Given the description of an element on the screen output the (x, y) to click on. 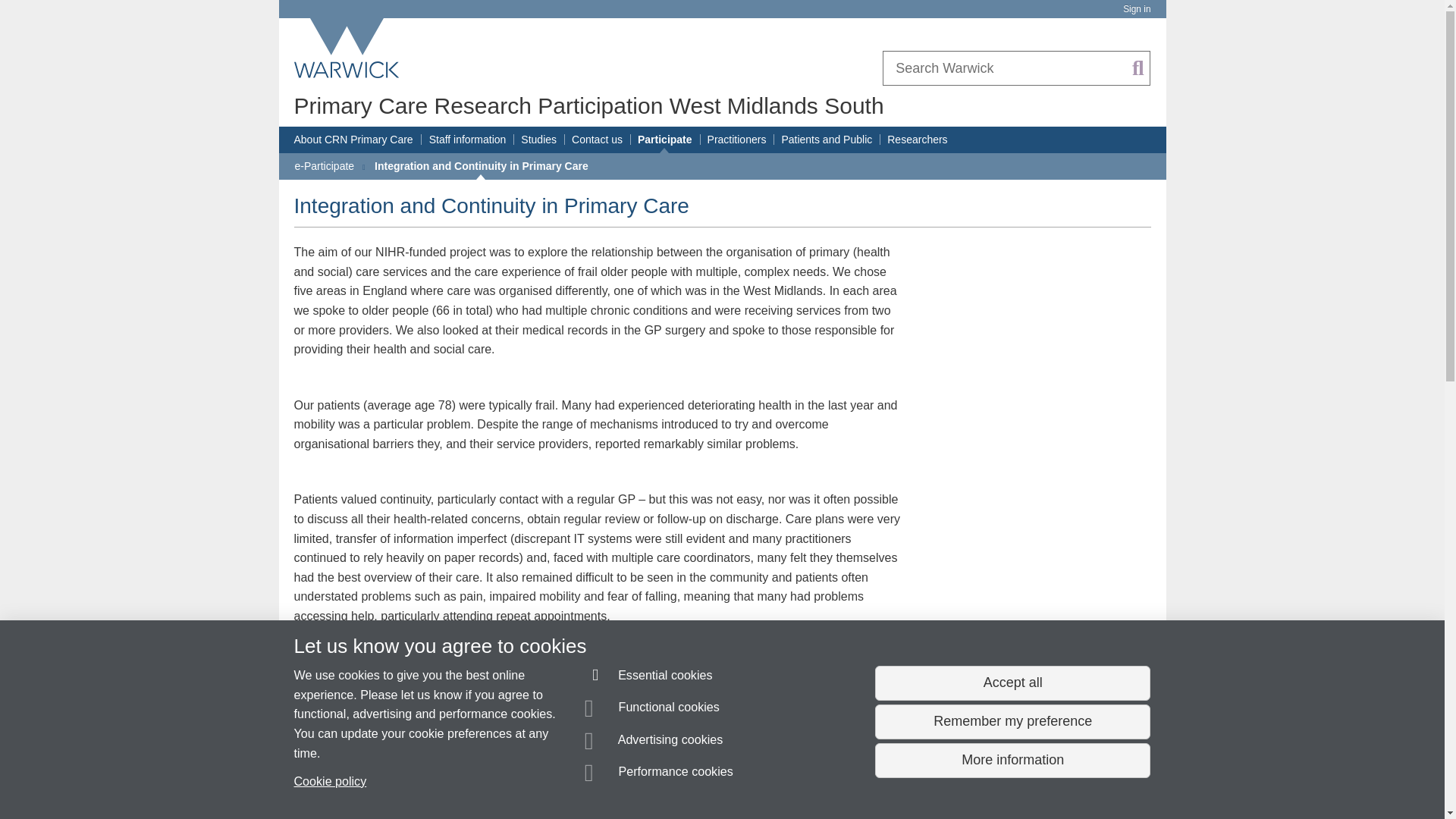
Search (1138, 68)
Studies (538, 139)
Primary Care Research Participation West Midlands South (588, 105)
University of Warwick homepage (346, 48)
Essential cookies are always on (649, 677)
Researchers (916, 139)
About CRN Primary Care (353, 139)
Participate (665, 139)
Contact us (597, 139)
Patients and Public (826, 139)
Practitioners (737, 139)
